Given the description of an element on the screen output the (x, y) to click on. 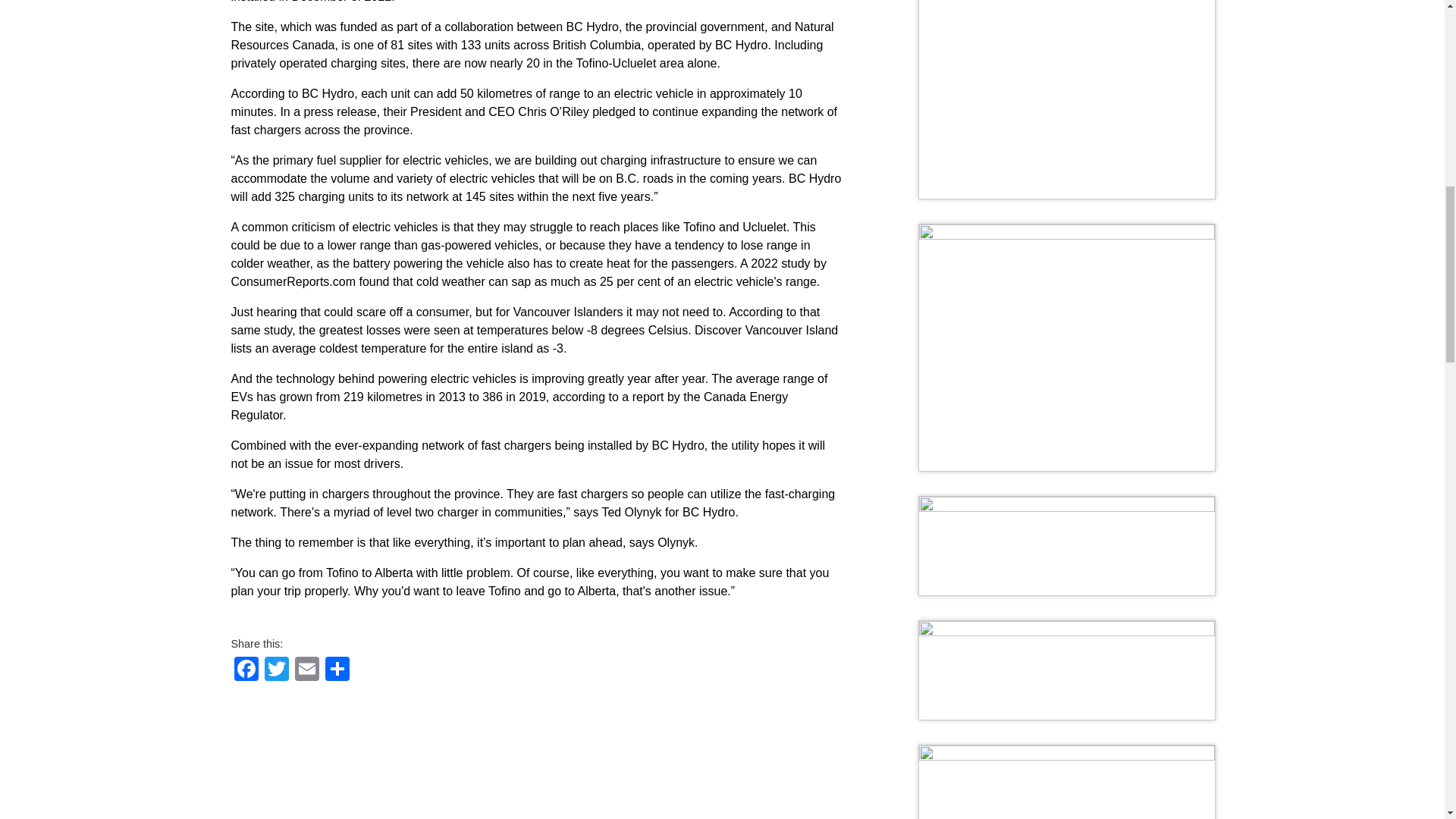
Email (306, 668)
Facebook (245, 668)
Twitter (275, 668)
